Given the description of an element on the screen output the (x, y) to click on. 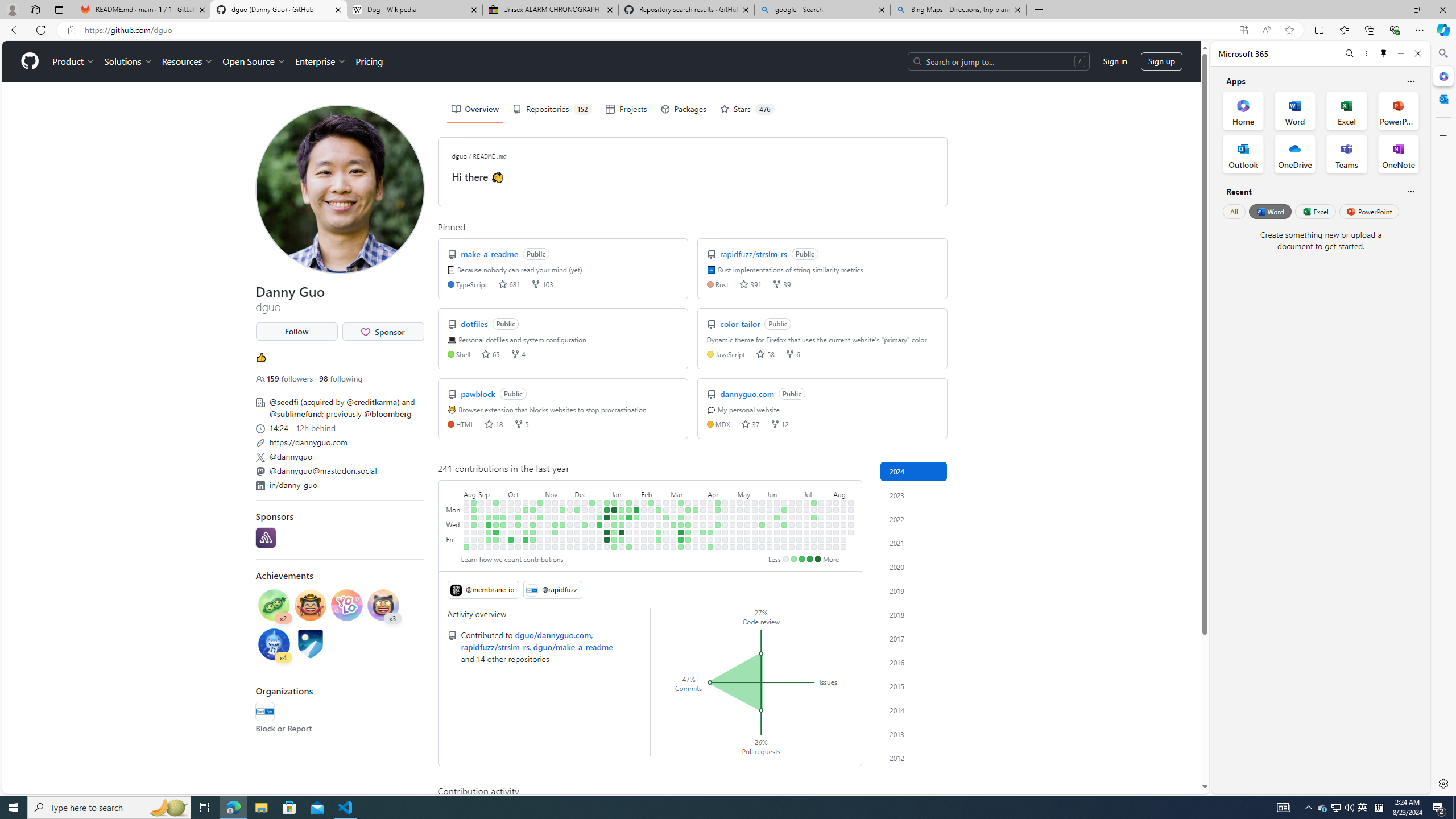
No contributions on March 4th. (674, 509)
No contributions on July 10th. (806, 524)
https://dannyguo.com (338, 440)
1 contribution on January 19th. (621, 539)
No contributions on February 24th. (658, 546)
No contributions on May 13th. (747, 509)
No contributions on June 12th. (777, 524)
No contributions on July 4th. (799, 531)
No contributions on November 3rd. (540, 539)
No contributions on May 10th. (740, 539)
No contributions on February 17th. (651, 546)
2017 (913, 638)
PowerPoint (1369, 210)
Contribution activity in 2021 (913, 542)
